Given the description of an element on the screen output the (x, y) to click on. 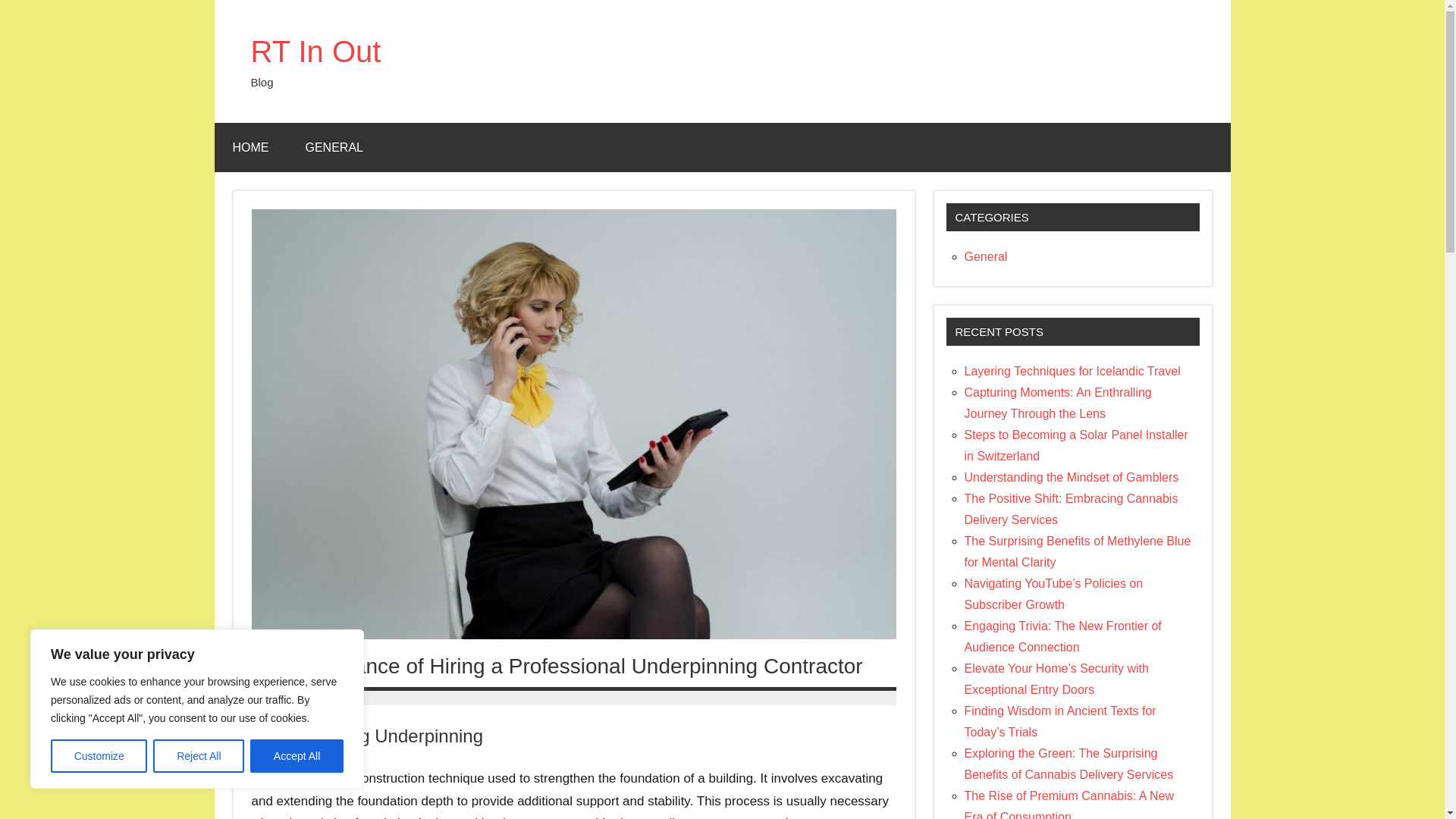
Customize (98, 756)
HOME (250, 146)
RT In Out (315, 51)
General (985, 256)
Layering Techniques for Icelandic Travel (1071, 370)
Reject All (198, 756)
The Positive Shift: Embracing Cannabis Delivery Services (1070, 509)
Capturing Moments: An Enthralling Journey Through the Lens (1057, 402)
GENERAL (333, 146)
Steps to Becoming a Solar Panel Installer in Switzerland (1075, 445)
